Given the description of an element on the screen output the (x, y) to click on. 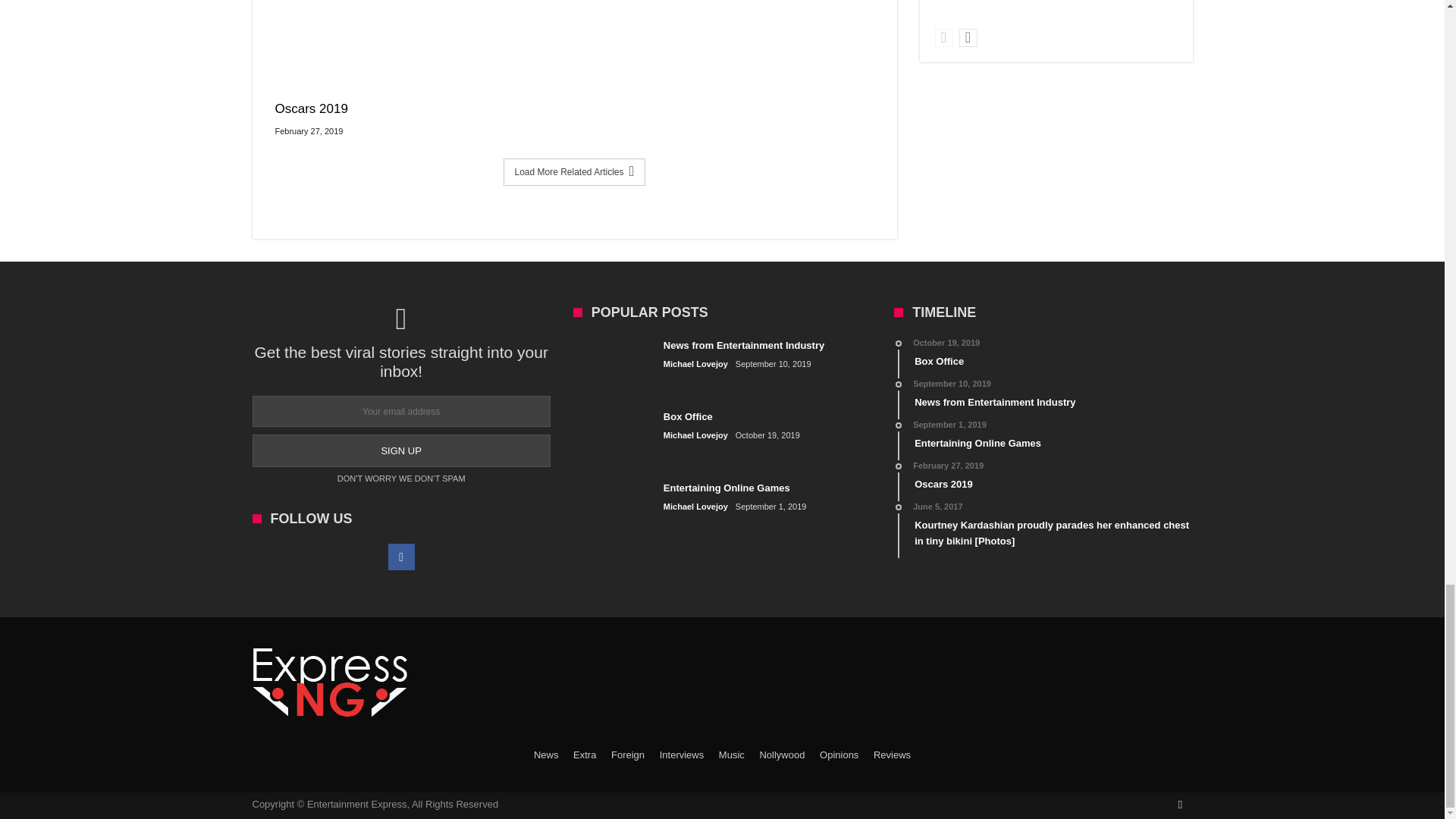
Posts by Michael Lovejoy (695, 506)
Posts by Michael Lovejoy (695, 435)
Posts by Michael Lovejoy (695, 364)
Facebook (401, 557)
Sign up (400, 450)
